Given the description of an element on the screen output the (x, y) to click on. 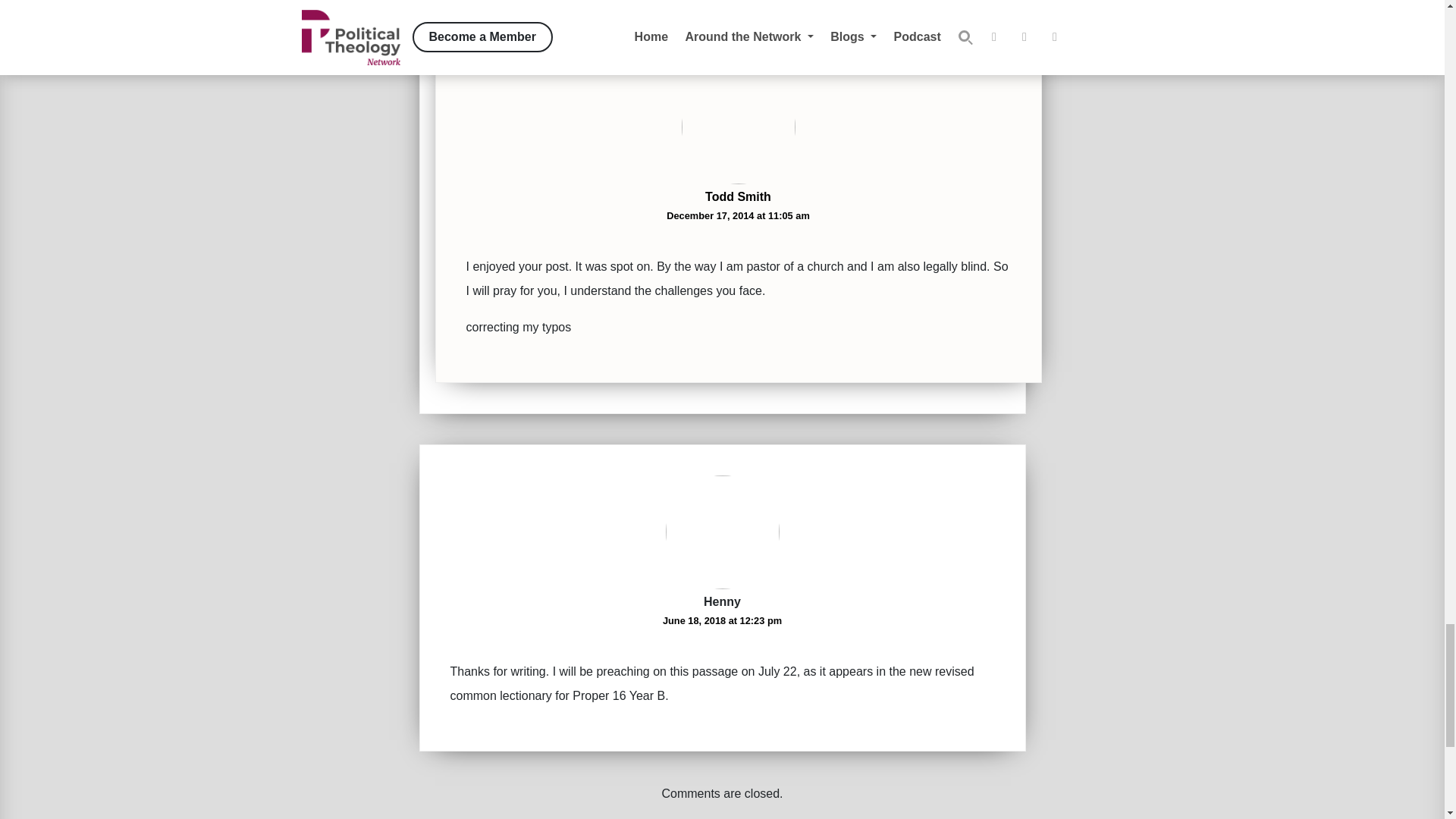
December 17, 2014 at 11:05 am (737, 215)
Todd Smith (737, 196)
